Given the description of an element on the screen output the (x, y) to click on. 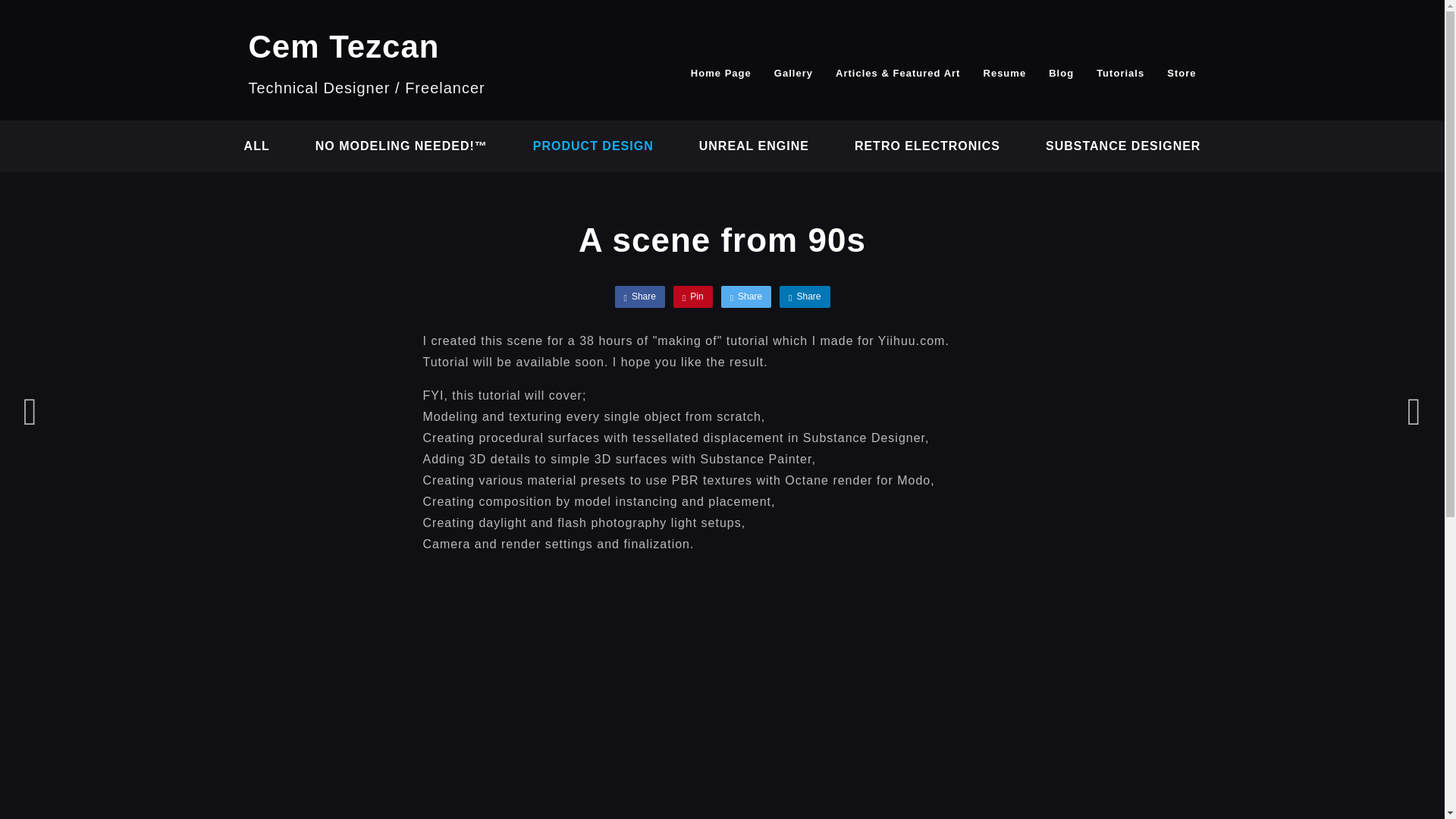
Blog (1061, 72)
Home Page (720, 72)
Pin (692, 296)
Tutorials (1120, 72)
Share (745, 296)
PRODUCT DESIGN (592, 145)
ALL (256, 145)
Share (803, 296)
RETRO ELECTRONICS (927, 145)
Share (638, 296)
